Given the description of an element on the screen output the (x, y) to click on. 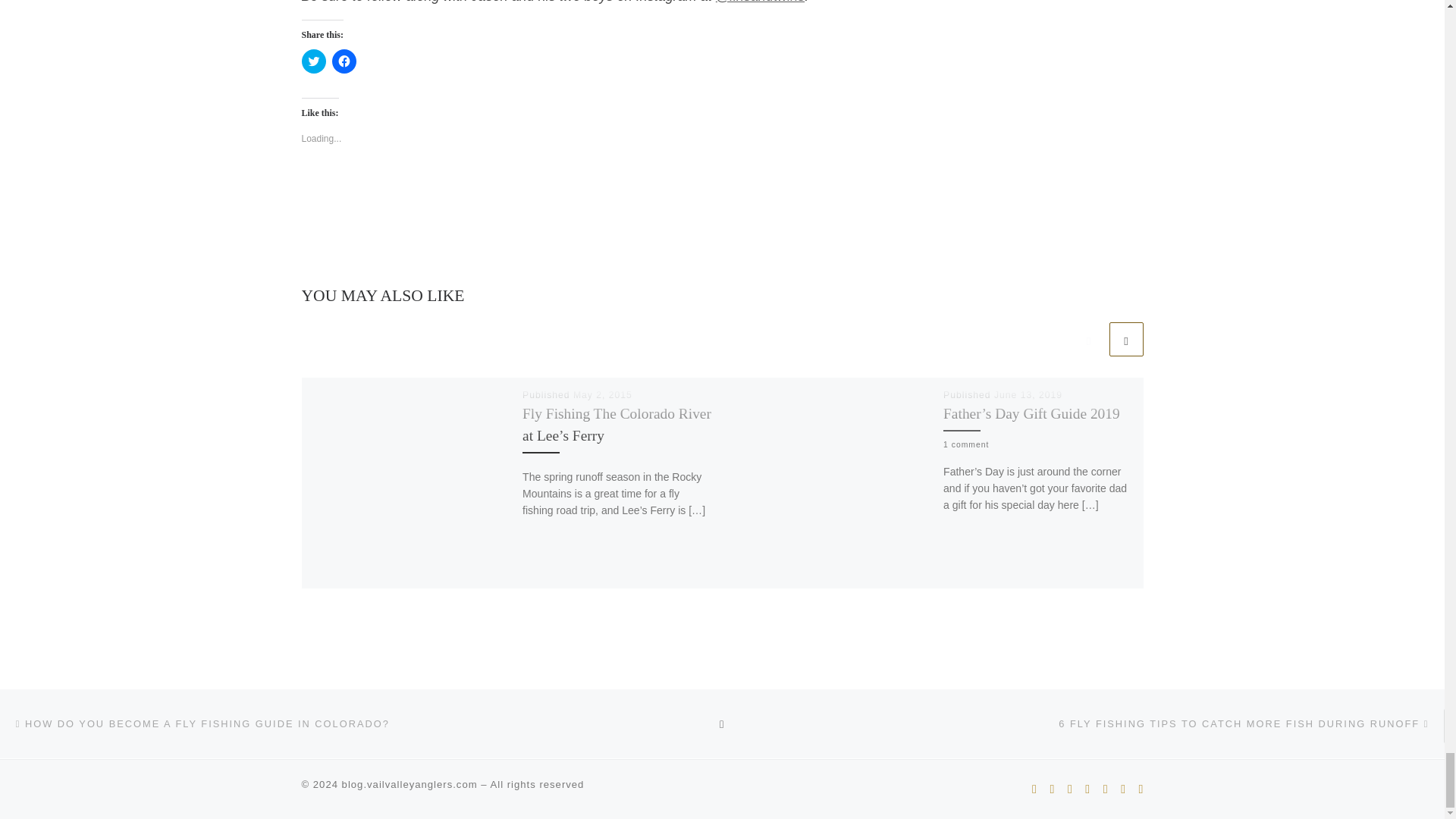
Previous related articles (1088, 339)
Click to share on Twitter (313, 61)
May 2, 2015 (602, 394)
Click to share on Facebook (343, 61)
Next related articles (1125, 339)
